Given the description of an element on the screen output the (x, y) to click on. 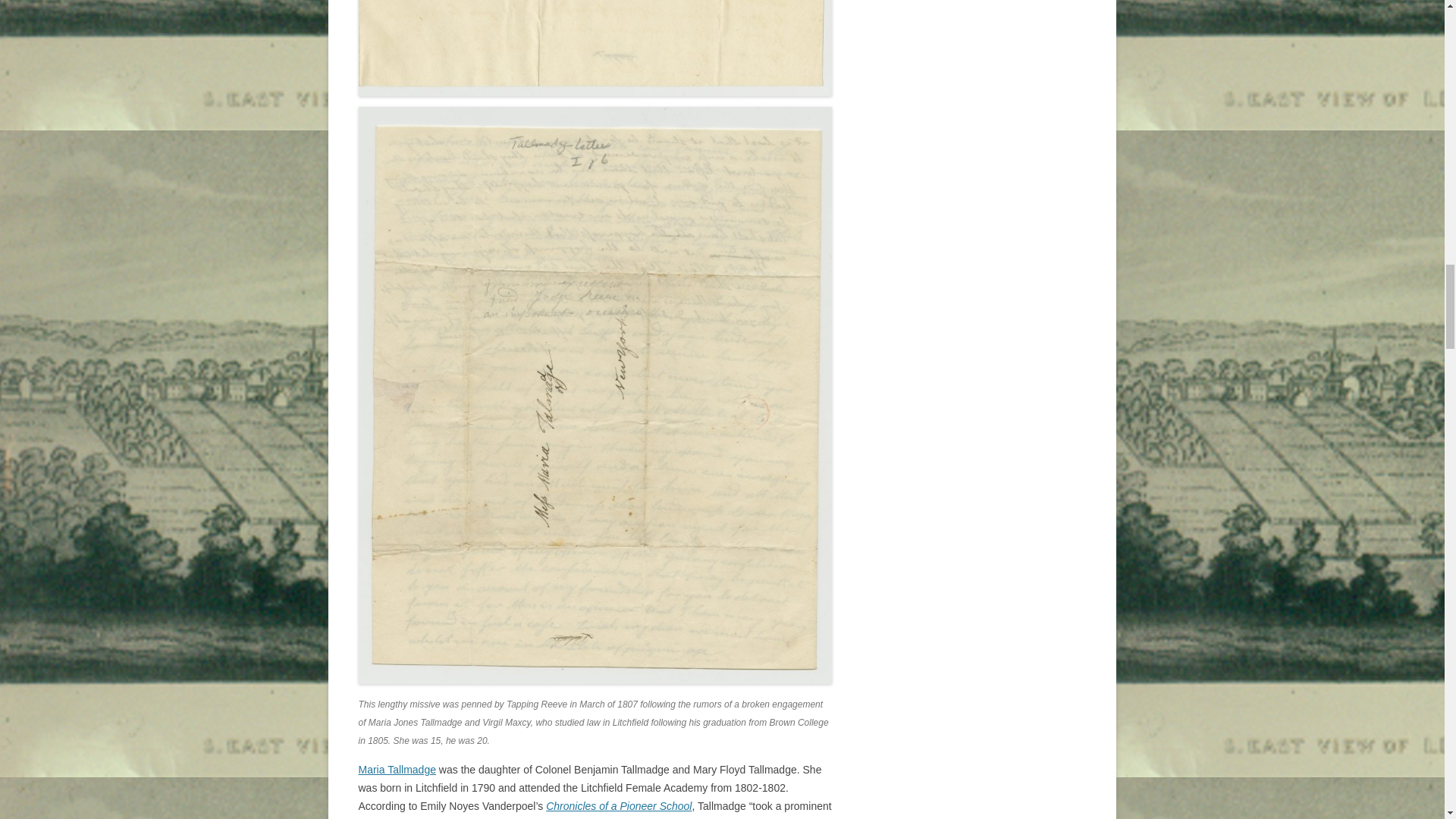
Chronicles of a Pioneer School (618, 806)
Maria Tallmadge (396, 769)
